Given the description of an element on the screen output the (x, y) to click on. 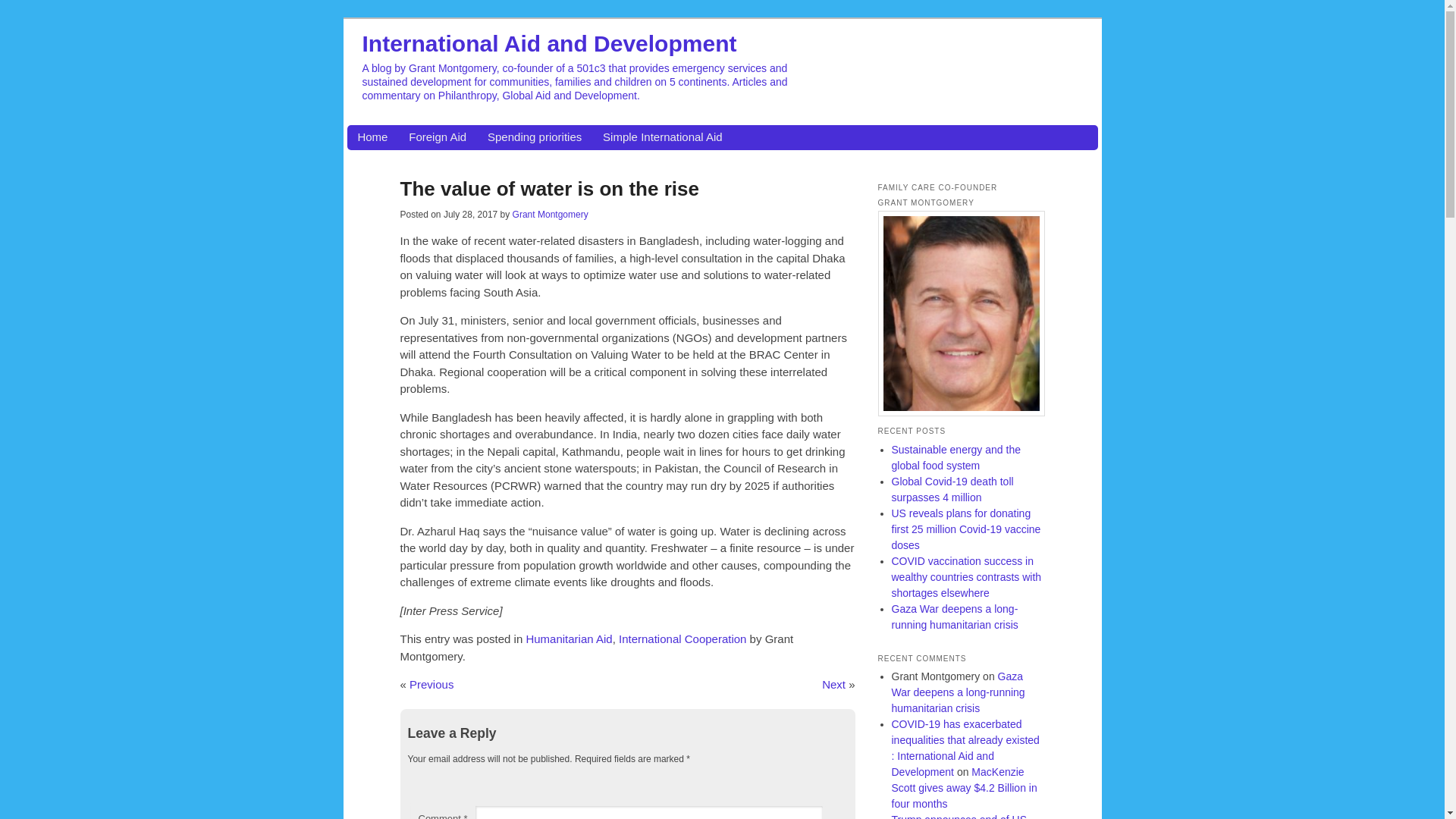
International Cooperation (681, 638)
Gaza War deepens a long-running humanitarian crisis (958, 692)
Grant Montgomery (550, 214)
Foreign Aid (437, 137)
Spending priorities (533, 137)
Sustainable energy and the global food system  (955, 457)
Humanitarian Aid (568, 638)
Posts by Grant Montgomery (550, 214)
Global Covid-19 death toll surpasses 4 million (952, 489)
International Aid and Development (549, 42)
Simple International Aid (662, 137)
Gaza War deepens a long-running humanitarian crisis (954, 616)
